Given the description of an element on the screen output the (x, y) to click on. 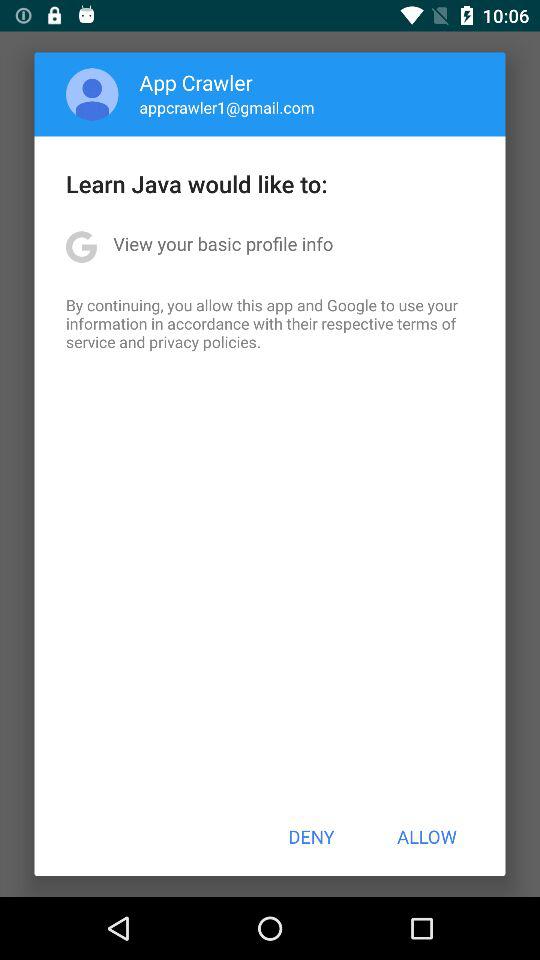
turn on the app below by continuing you icon (311, 836)
